Given the description of an element on the screen output the (x, y) to click on. 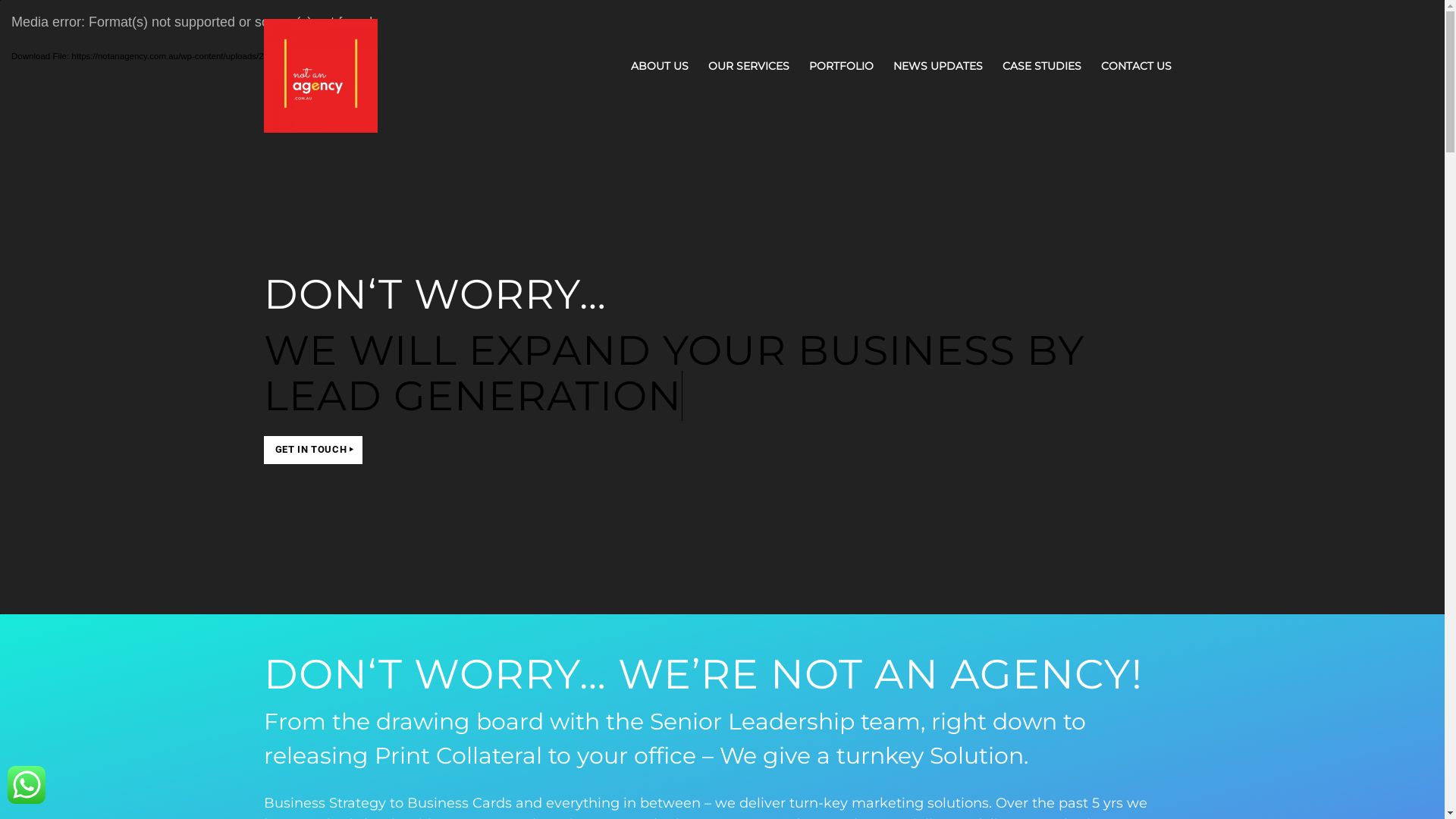
GET IN TOUCH Element type: text (312, 450)
ABOUT US Element type: text (658, 66)
PORTFOLIO Element type: text (841, 66)
NEWS UPDATES Element type: text (936, 66)
OUR SERVICES Element type: text (747, 66)
CONTACT US Element type: text (1135, 66)
CASE STUDIES Element type: text (1040, 66)
